Given the description of an element on the screen output the (x, y) to click on. 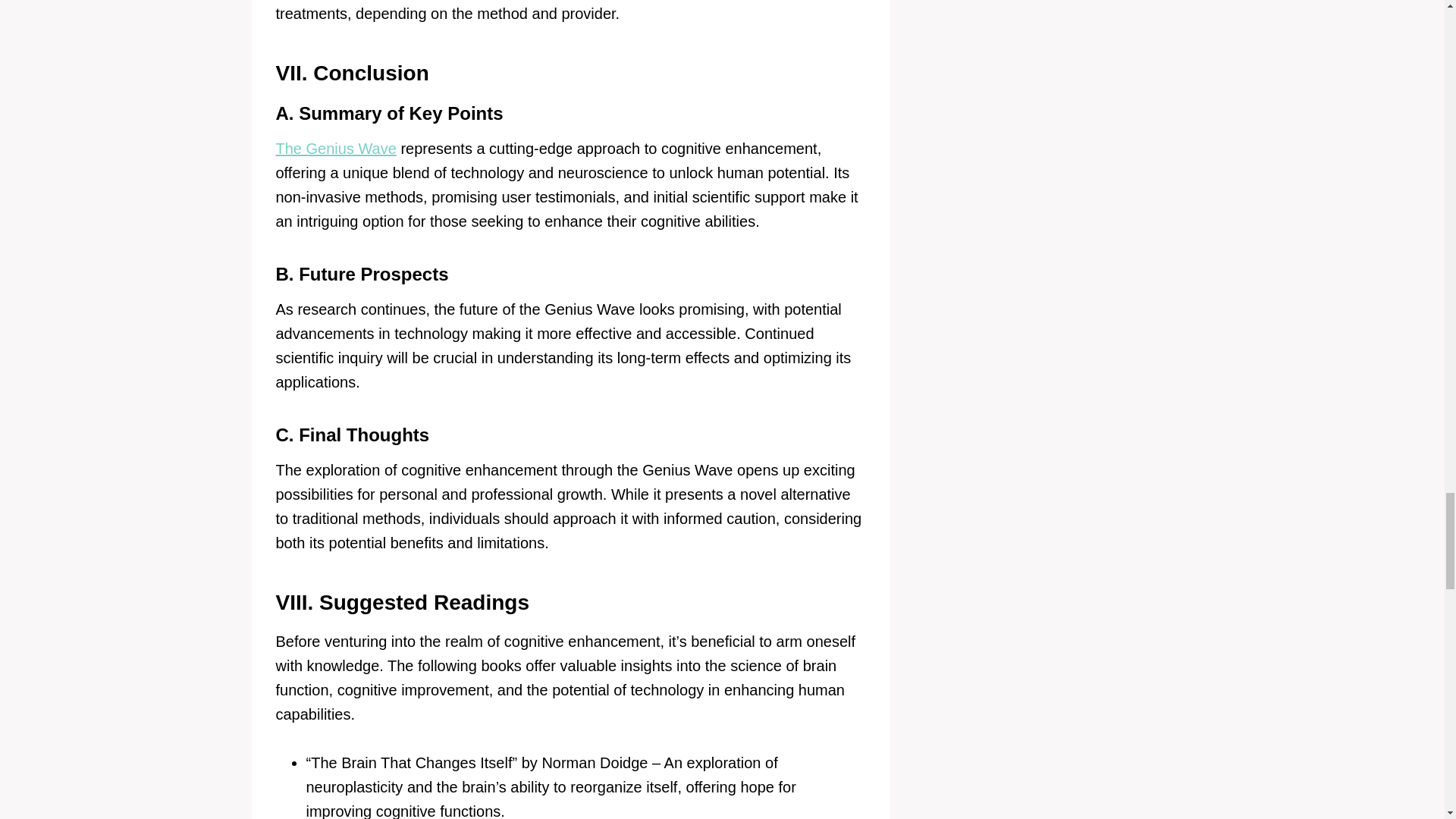
The Genius Wave (336, 148)
